Given the description of an element on the screen output the (x, y) to click on. 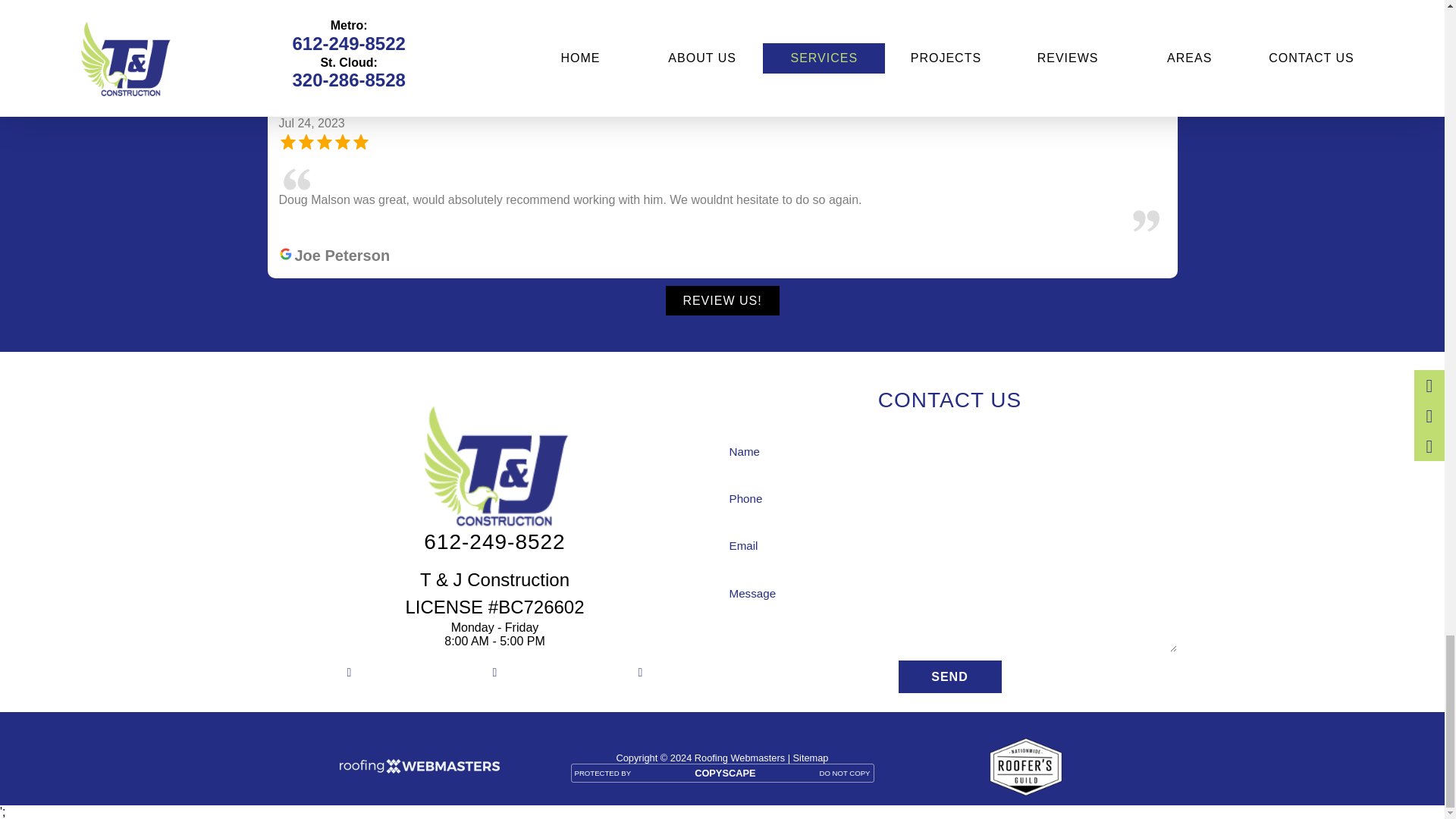
Send (949, 677)
2:57 PM (724, 12)
View all posts by Author (789, 12)
